Given the description of an element on the screen output the (x, y) to click on. 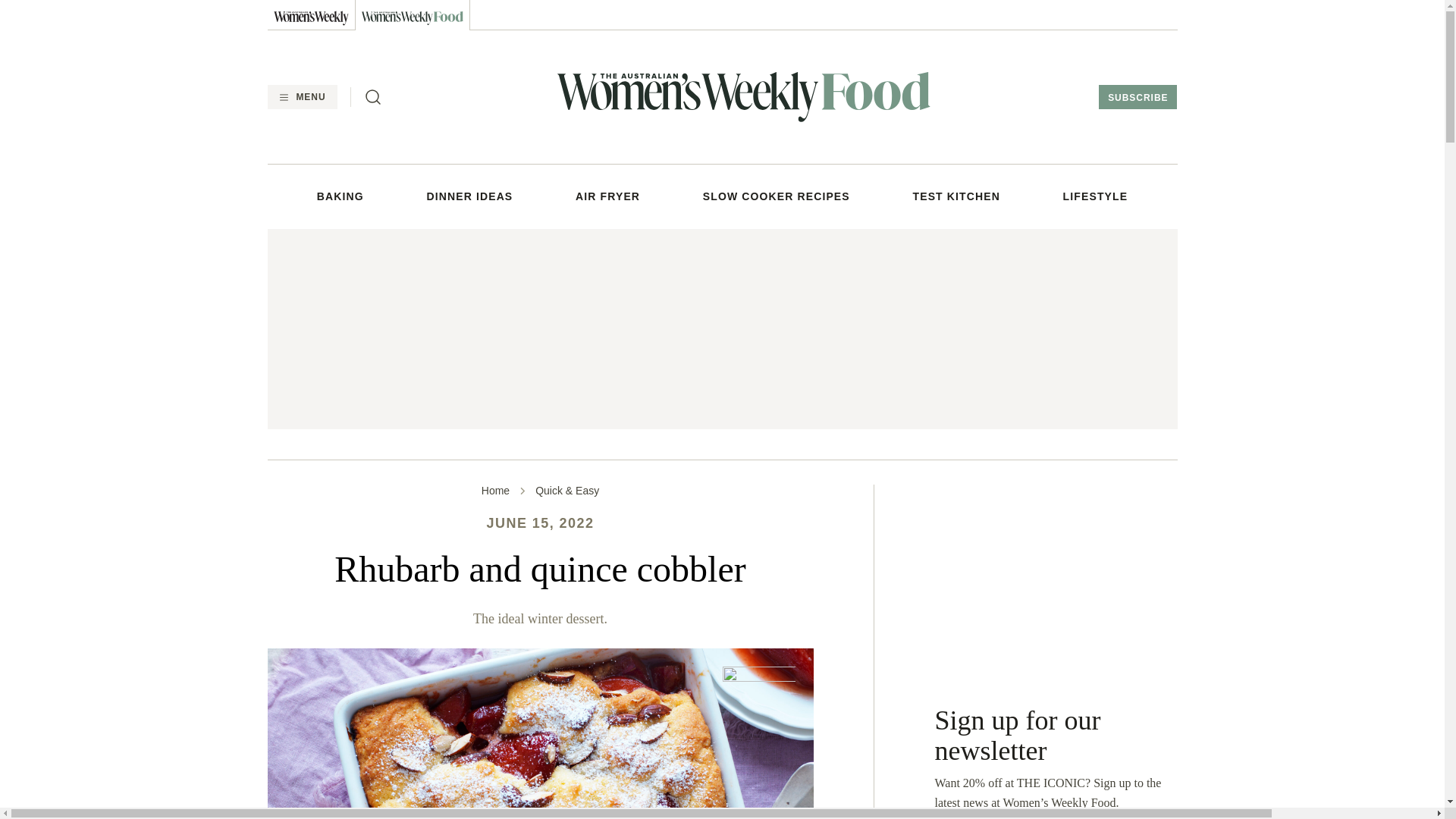
AIR FRYER (607, 196)
BAKING (340, 196)
SUBSCRIBE (1137, 96)
SLOW COOKER RECIPES (776, 196)
MENU (301, 96)
DINNER IDEAS (469, 196)
TEST KITCHEN (956, 196)
LIFESTYLE (1095, 196)
